Given the description of an element on the screen output the (x, y) to click on. 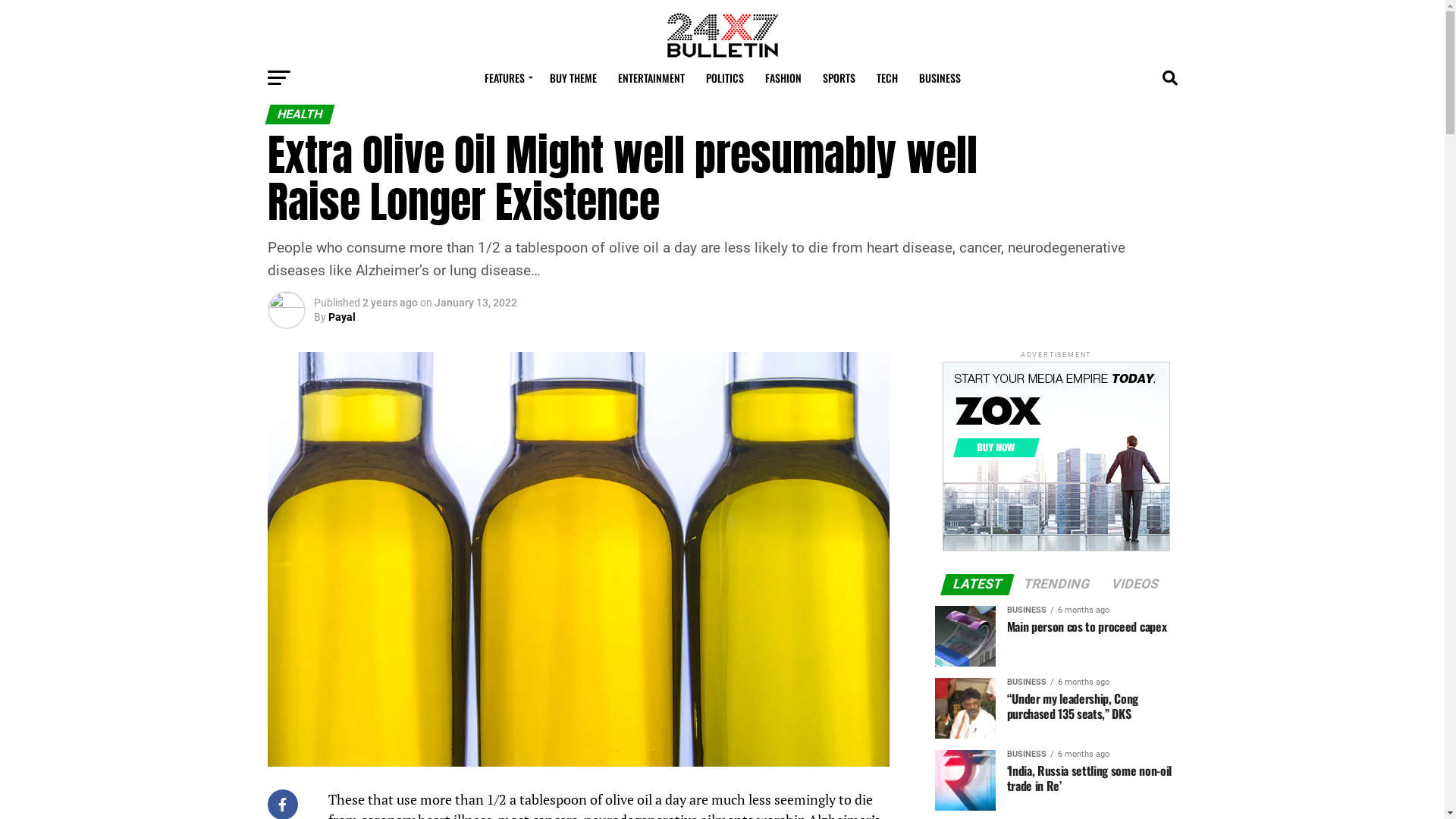
POLITICS Element type: text (724, 78)
BUSINESS Element type: text (939, 78)
VIDEOS Element type: text (1134, 584)
SPORTS Element type: text (837, 78)
Payal Element type: text (340, 316)
BUY THEME Element type: text (572, 78)
ENTERTAINMENT Element type: text (650, 78)
FEATURES Element type: text (505, 78)
FASHION Element type: text (782, 78)
LATEST Element type: text (977, 584)
TECH Element type: text (886, 78)
TRENDING Element type: text (1056, 584)
